Given the description of an element on the screen output the (x, y) to click on. 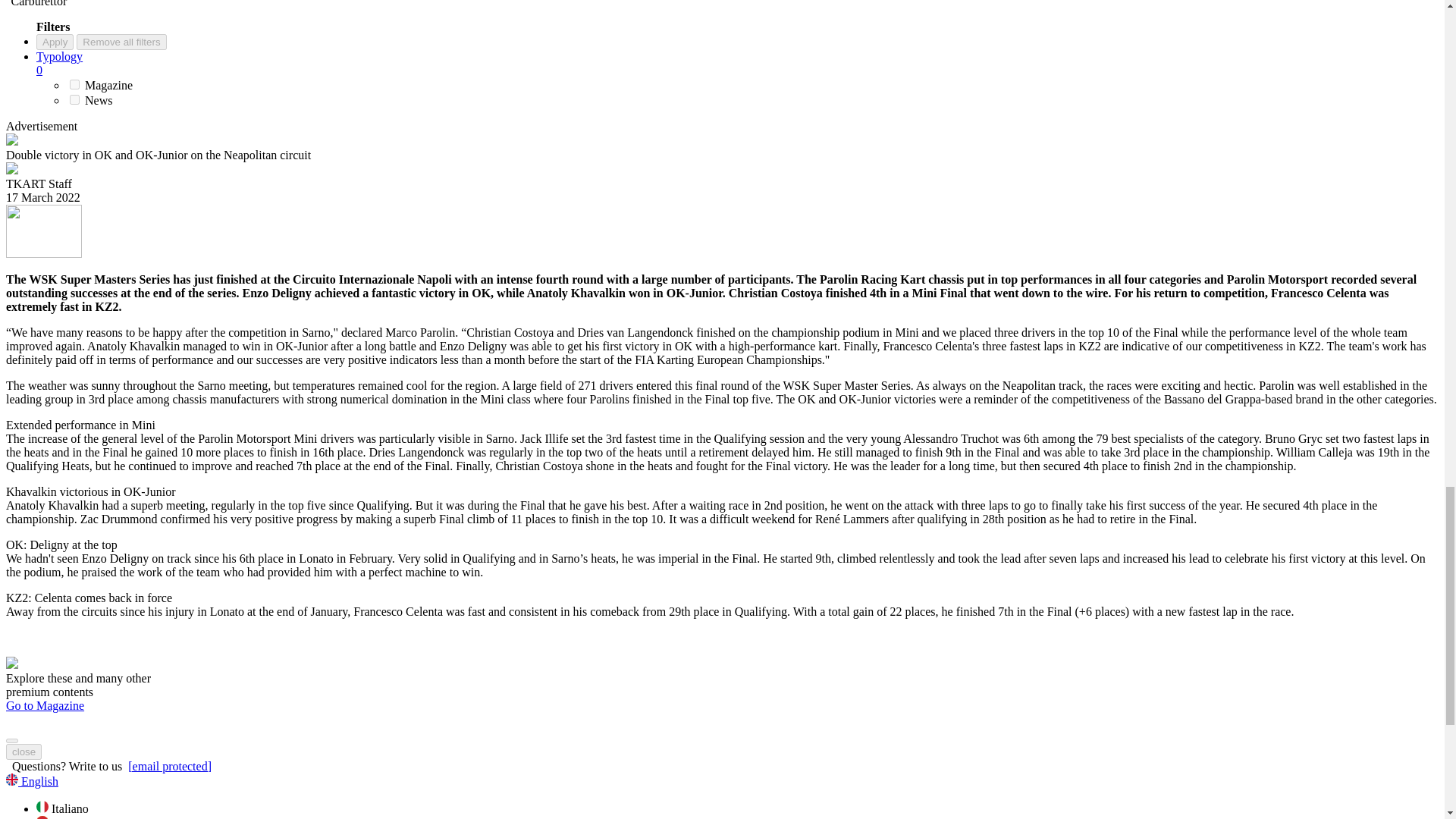
Double victory in OK and OK-Junior on the Neapolitan circuit (43, 230)
M (74, 84)
N (74, 99)
